Given the description of an element on the screen output the (x, y) to click on. 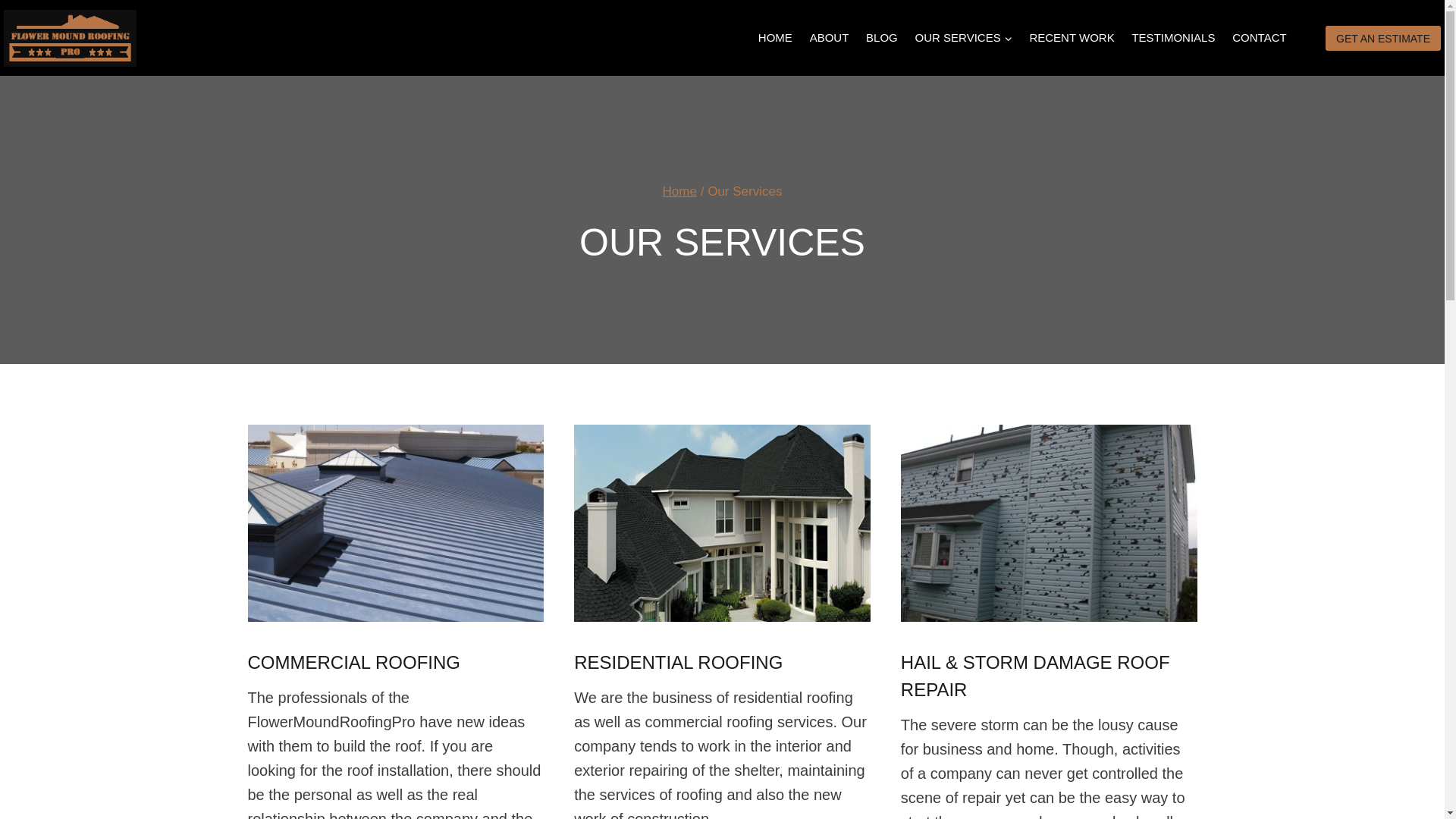
ABOUT (828, 38)
GET AN ESTIMATE (1382, 38)
BLOG (881, 38)
RECENT WORK (1071, 38)
TESTIMONIALS (1173, 38)
CONTACT (1259, 38)
OUR SERVICES (962, 38)
Home (679, 191)
HOME (774, 38)
RESIDENTIAL ROOFING (678, 661)
COMMERCIAL ROOFING (353, 661)
